Given the description of an element on the screen output the (x, y) to click on. 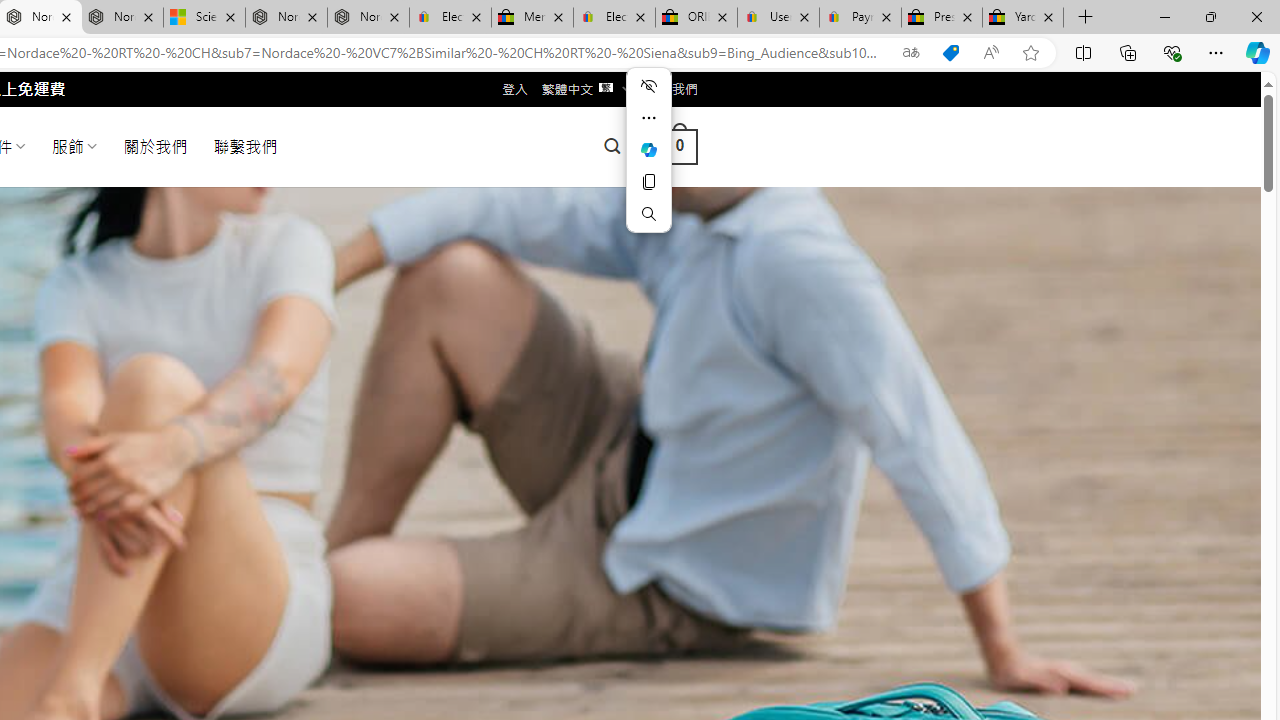
Mini menu on text selection (648, 161)
More actions (648, 117)
User Privacy Notice | eBay (778, 17)
 0  (679, 146)
Copy (648, 182)
